Given the description of an element on the screen output the (x, y) to click on. 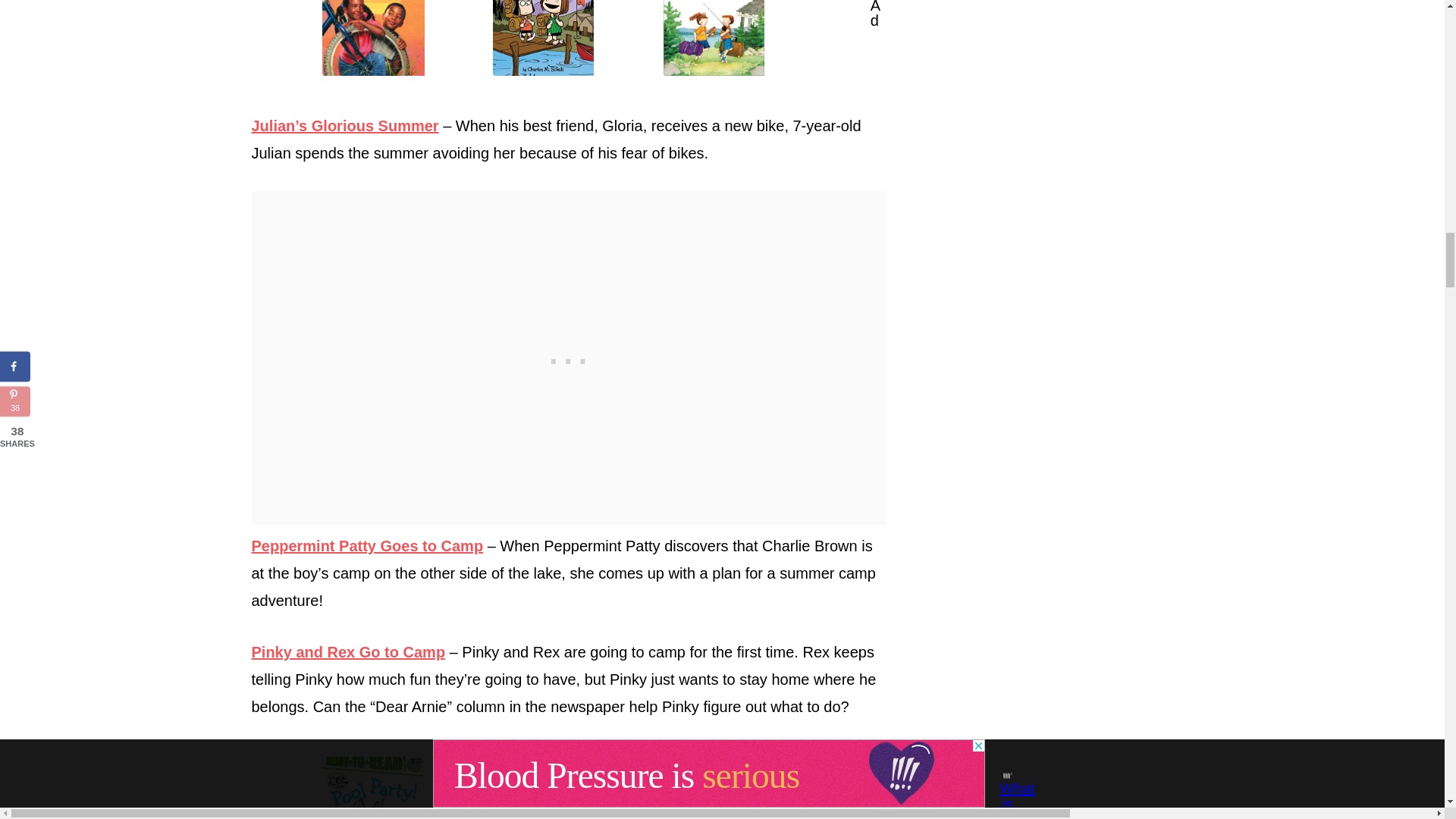
Mouse Loves Summer (739, 786)
Pinky and Rex Go to Camp (739, 38)
